Given the description of an element on the screen output the (x, y) to click on. 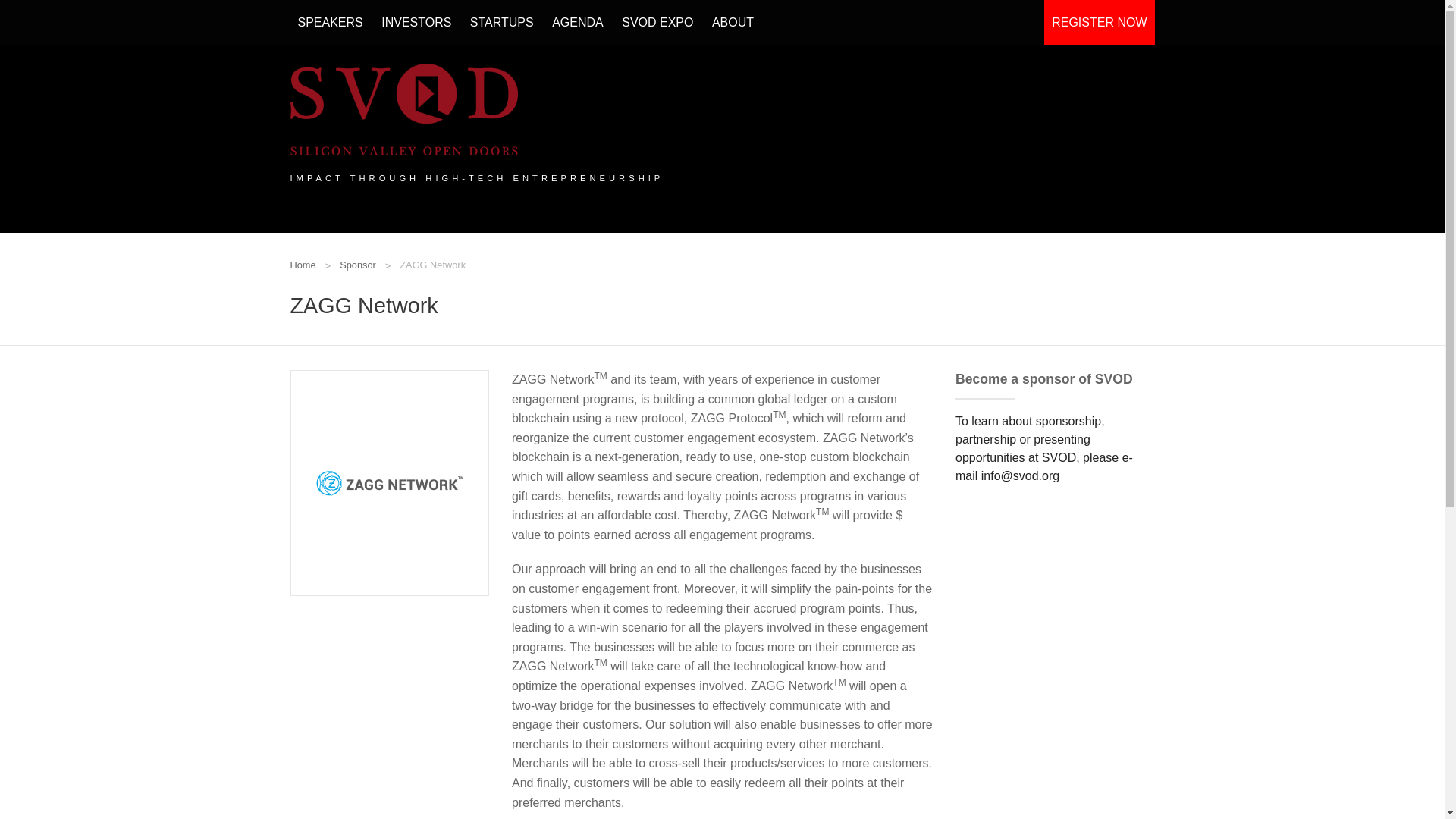
register (1098, 22)
AGENDA (577, 22)
STARTUPS (502, 22)
SPEAKERS (329, 22)
INVESTORS (416, 22)
REGISTER NOW (1098, 22)
SVOD EXPO (657, 22)
ABOUT (732, 22)
Home (302, 265)
